Given the description of an element on the screen output the (x, y) to click on. 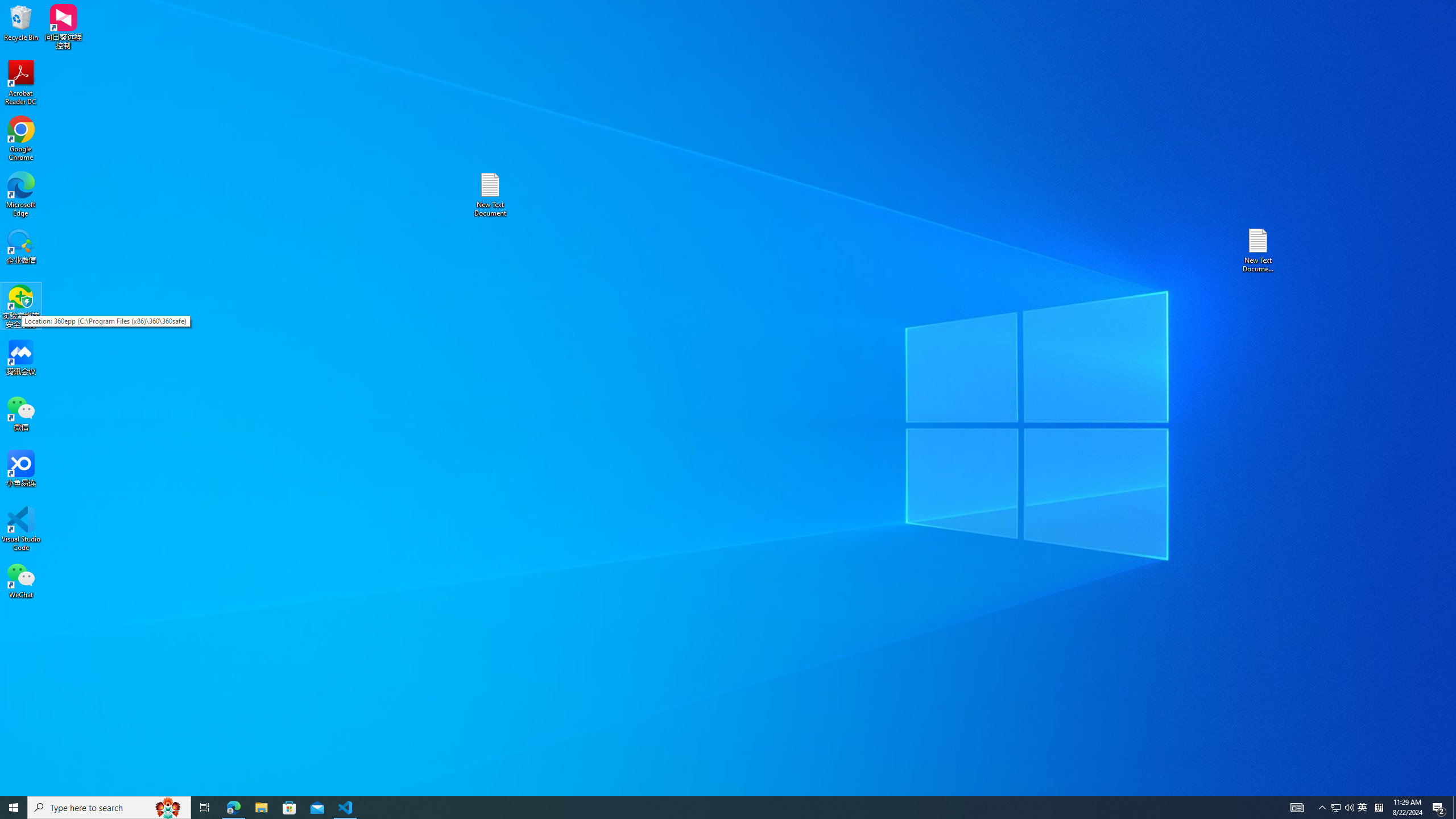
File Explorer (261, 807)
Recycle Bin (21, 22)
Visual Studio Code - 1 running window (345, 807)
Q2790: 100% (1349, 807)
User Promoted Notification Area (1342, 807)
Running applications (707, 807)
AutomationID: 4105 (1297, 807)
Notification Chevron (1322, 807)
New Text Document (489, 194)
Acrobat Reader DC (21, 82)
New Text Document (2) (1258, 250)
Action Center, 2 new notifications (1439, 807)
